Given the description of an element on the screen output the (x, y) to click on. 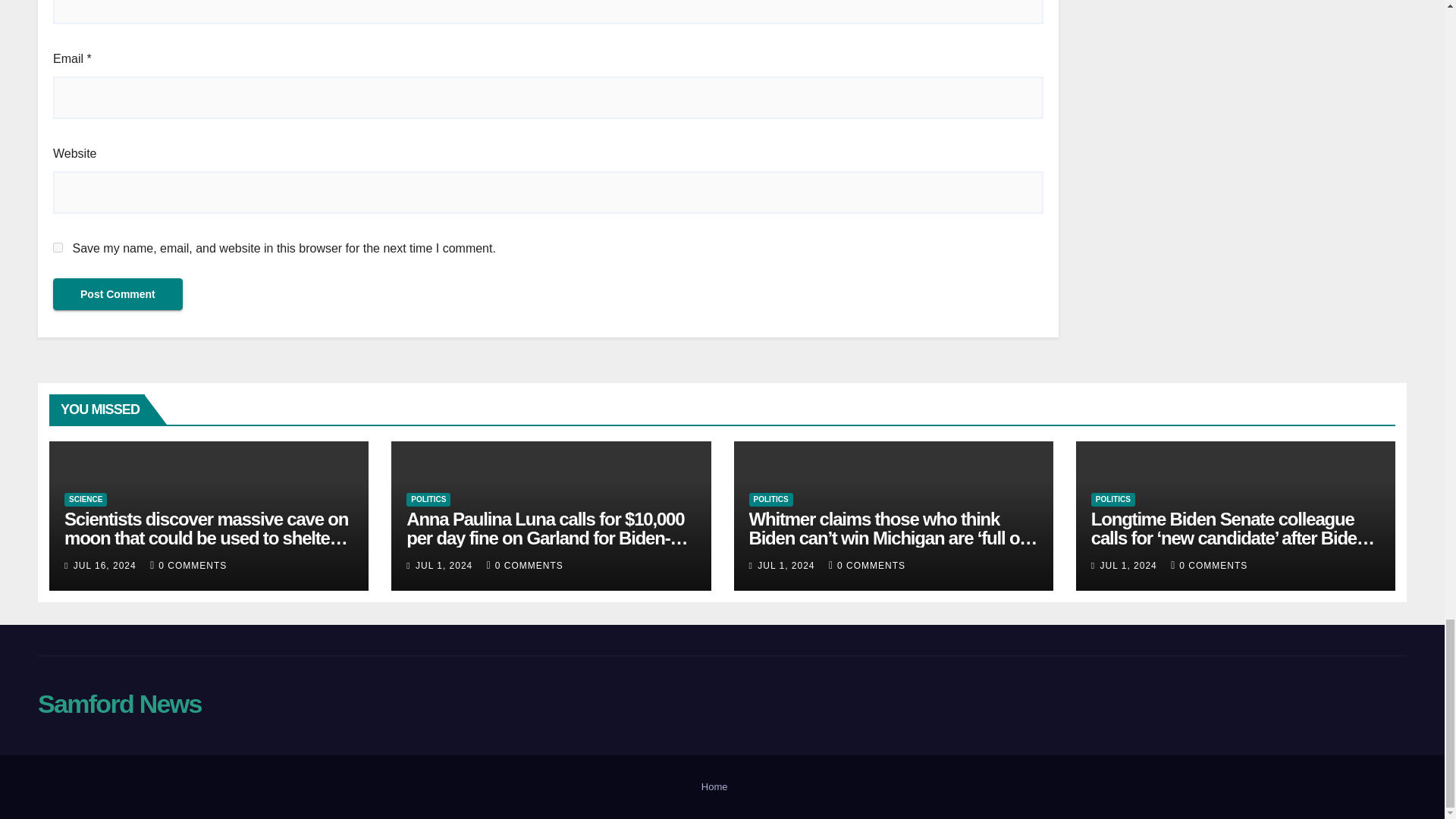
Post Comment (117, 294)
yes (57, 247)
Post Comment (117, 294)
